Given the description of an element on the screen output the (x, y) to click on. 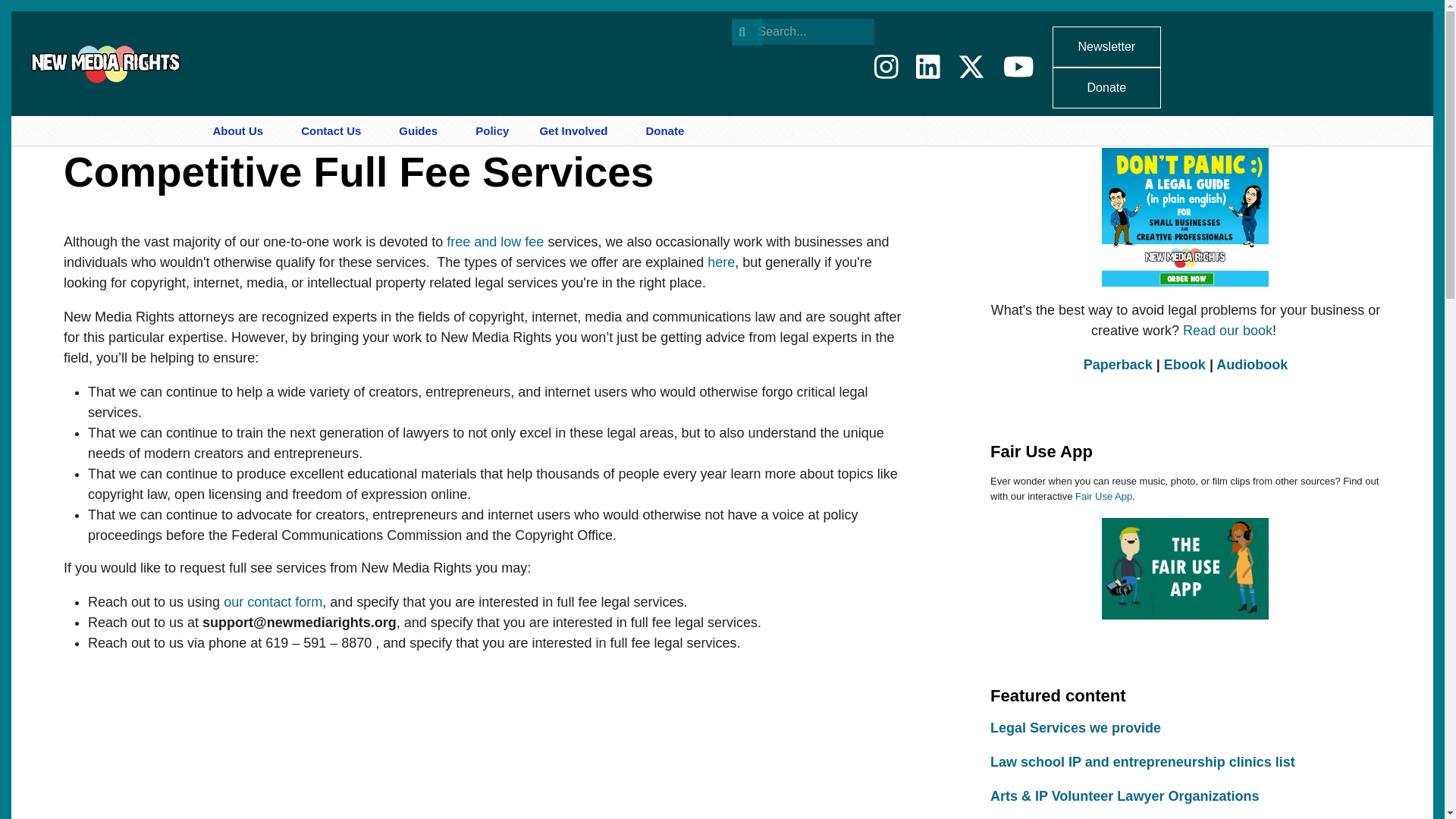
Guides (421, 131)
Enter the terms you wish to search for. (816, 31)
here (721, 262)
Policy (491, 131)
Donate (660, 131)
Search (745, 31)
Contact Us (334, 131)
Search (745, 31)
Home (103, 62)
free and low fee (492, 241)
Get Involved (577, 131)
our contact form (270, 601)
 Donate  (1106, 87)
